Given the description of an element on the screen output the (x, y) to click on. 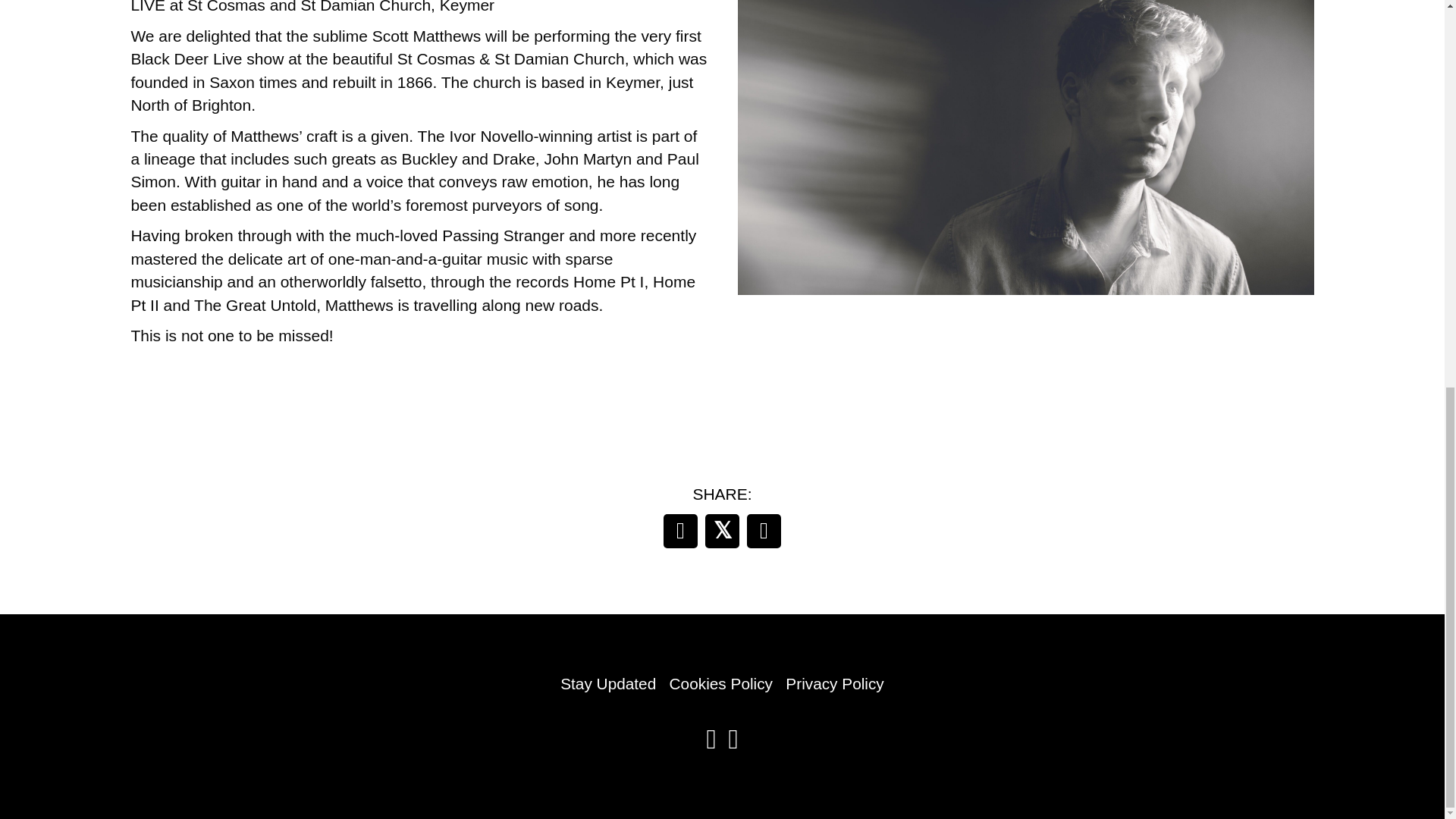
Stay Updated (608, 683)
Cookies Policy (721, 683)
Privacy Policy (834, 683)
